Given the description of an element on the screen output the (x, y) to click on. 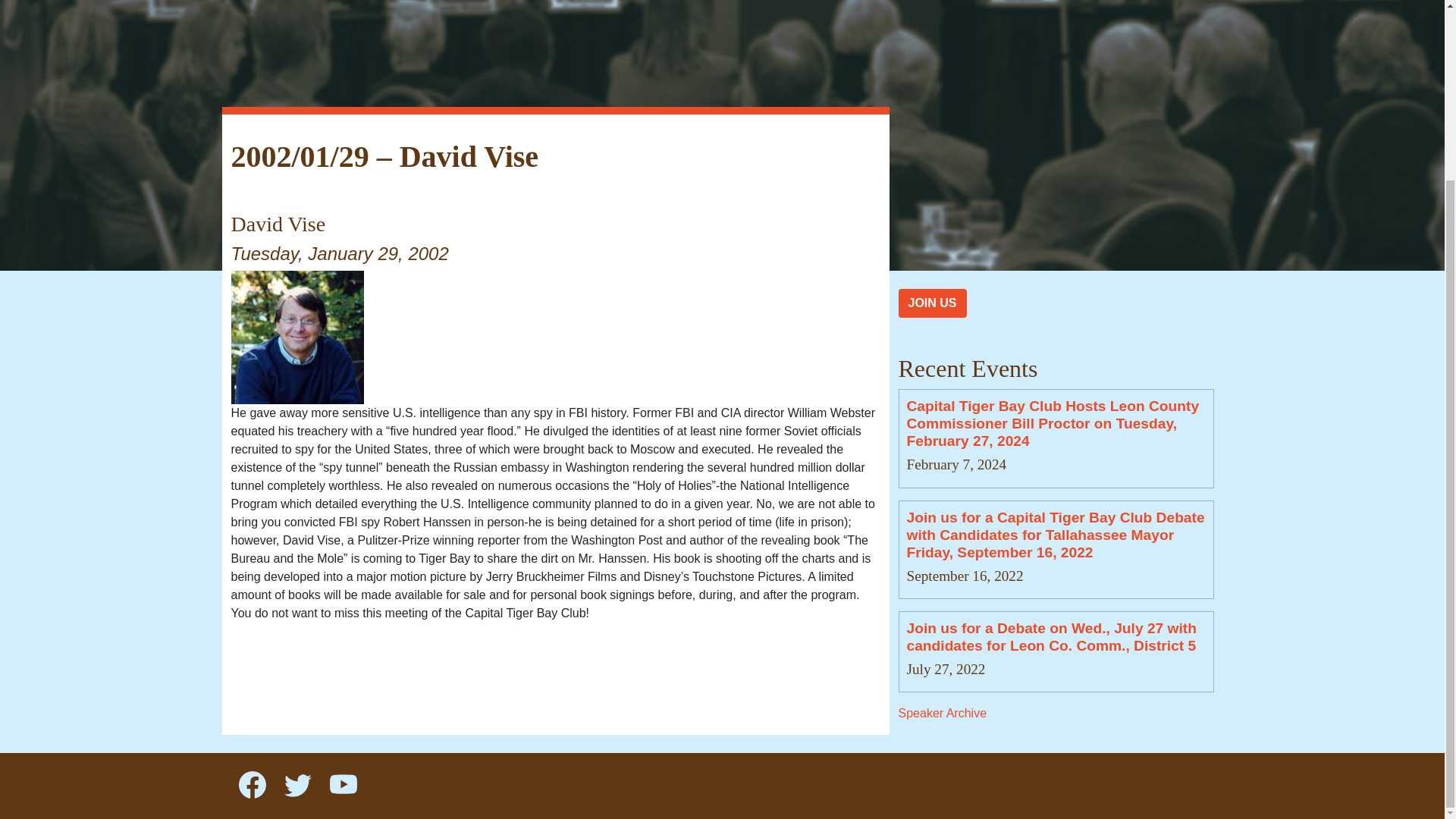
JOIN US (932, 303)
Speaker Archive (942, 712)
